Given the description of an element on the screen output the (x, y) to click on. 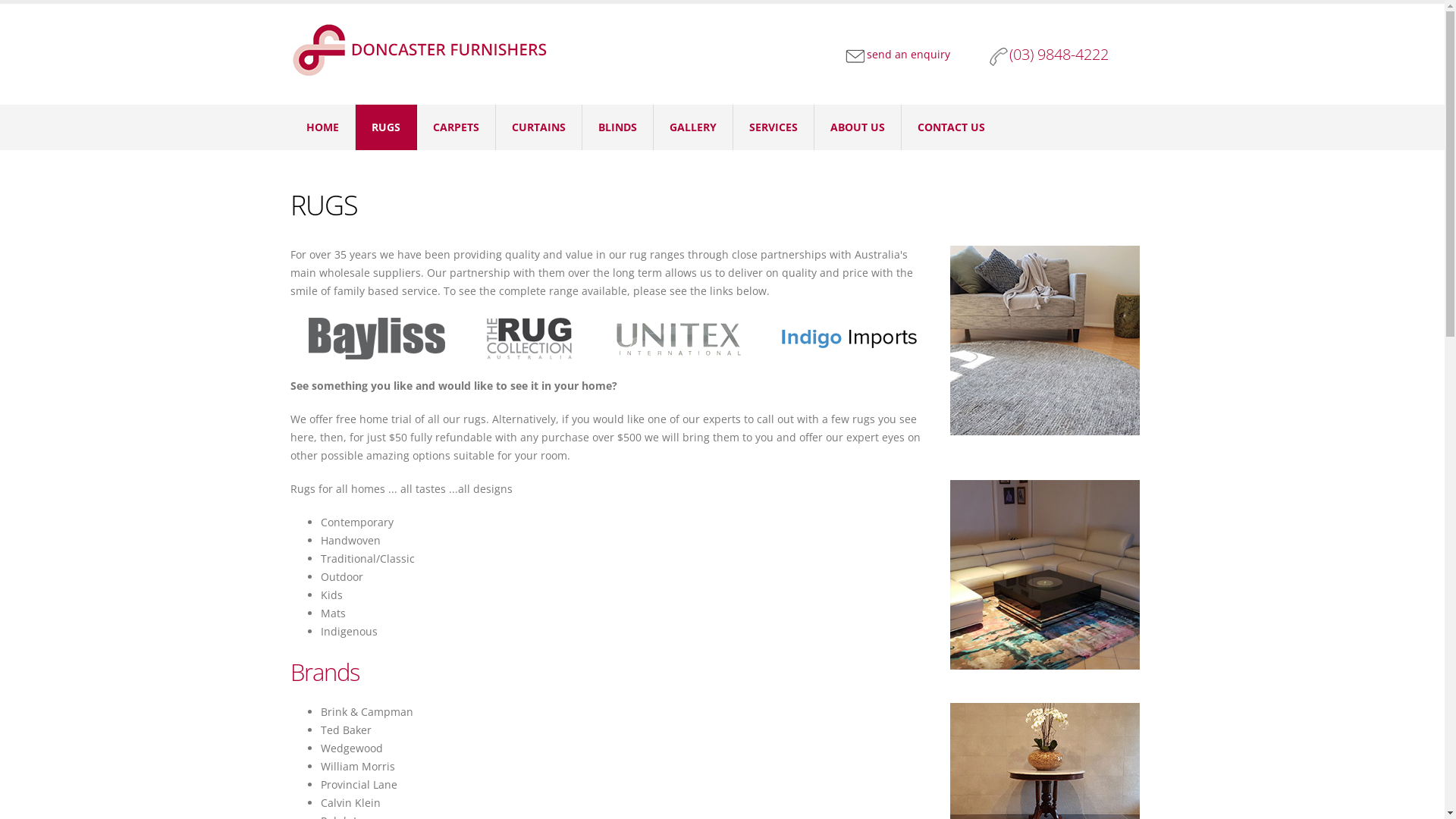
CARPETS Element type: text (456, 127)
BLINDS Element type: text (617, 127)
GALLERY Element type: text (693, 127)
(03) 9848-4222 Element type: text (1065, 62)
RUGS Element type: text (385, 127)
HOME Element type: text (321, 127)
SERVICES Element type: text (772, 127)
send an enquiry Element type: text (897, 54)
CURTAINS Element type: text (538, 127)
ABOUT US Element type: text (857, 127)
CONTACT US Element type: text (950, 127)
